Given the description of an element on the screen output the (x, y) to click on. 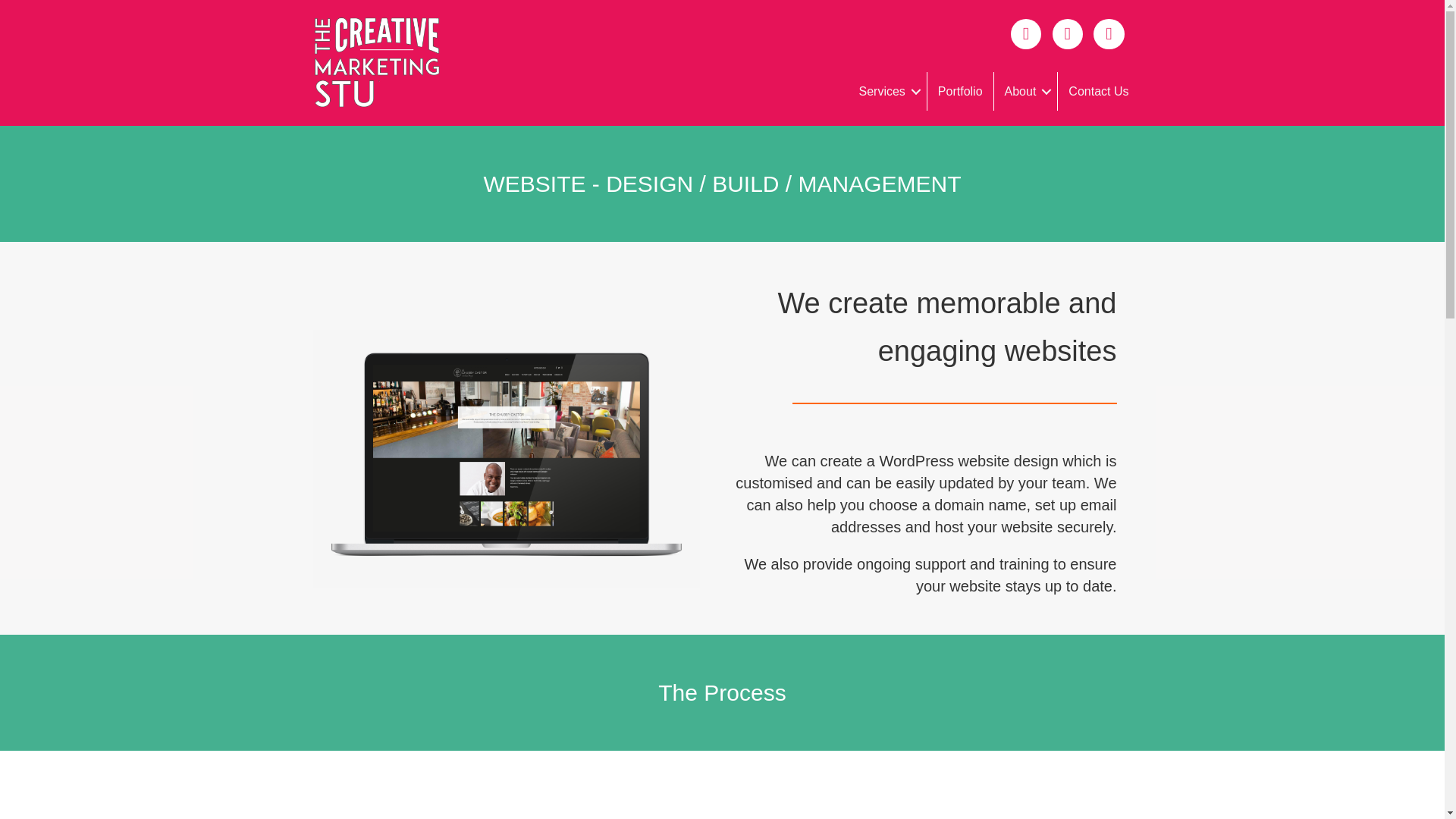
TheChubbyWebsite (505, 459)
Portfolio (959, 91)
Contact Us (1098, 91)
Services (886, 91)
About (1026, 91)
The Creative Marketing Studio (375, 63)
